Given the description of an element on the screen output the (x, y) to click on. 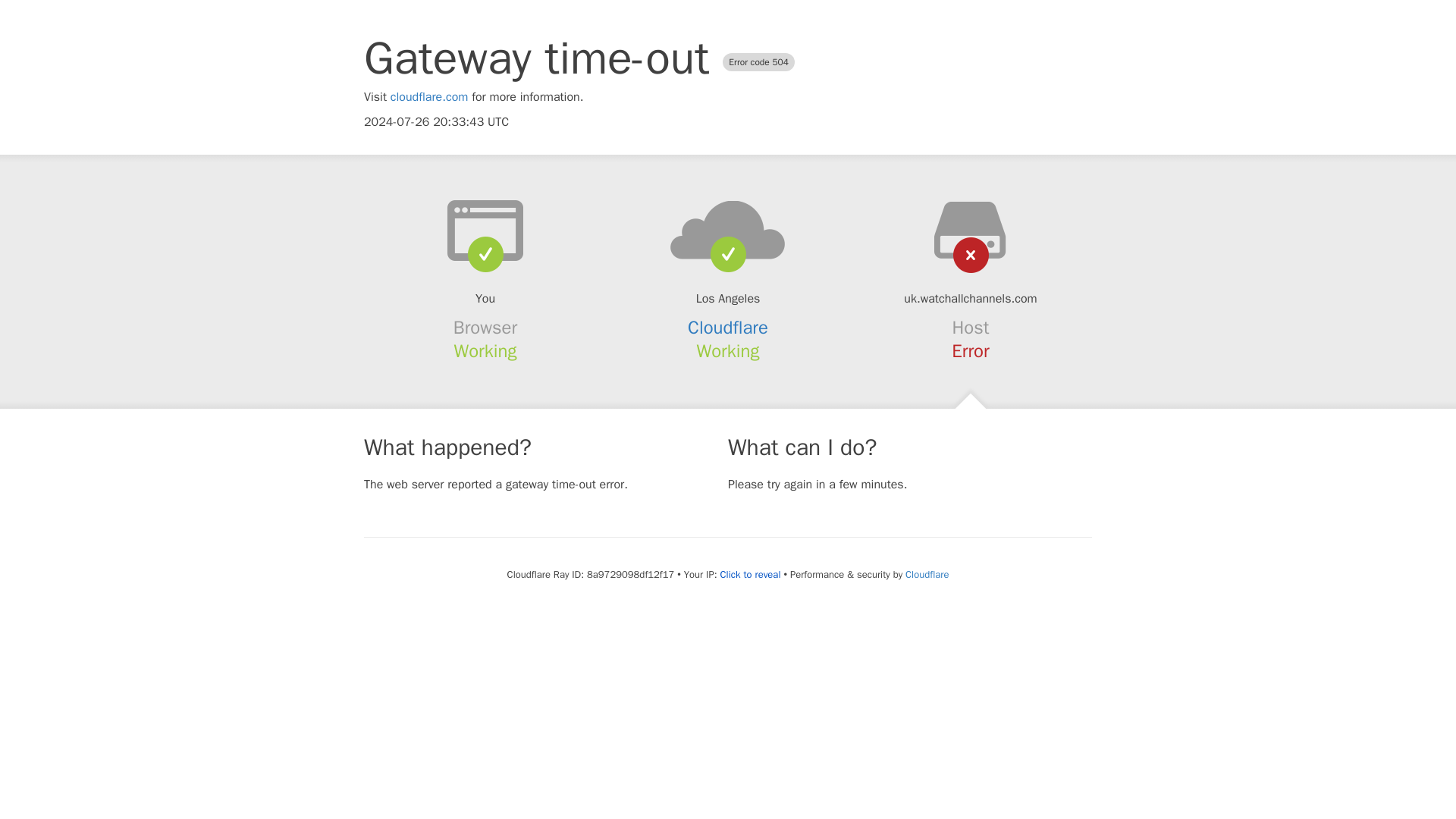
cloudflare.com (429, 96)
Click to reveal (750, 574)
Cloudflare (727, 327)
Cloudflare (927, 574)
